Given the description of an element on the screen output the (x, y) to click on. 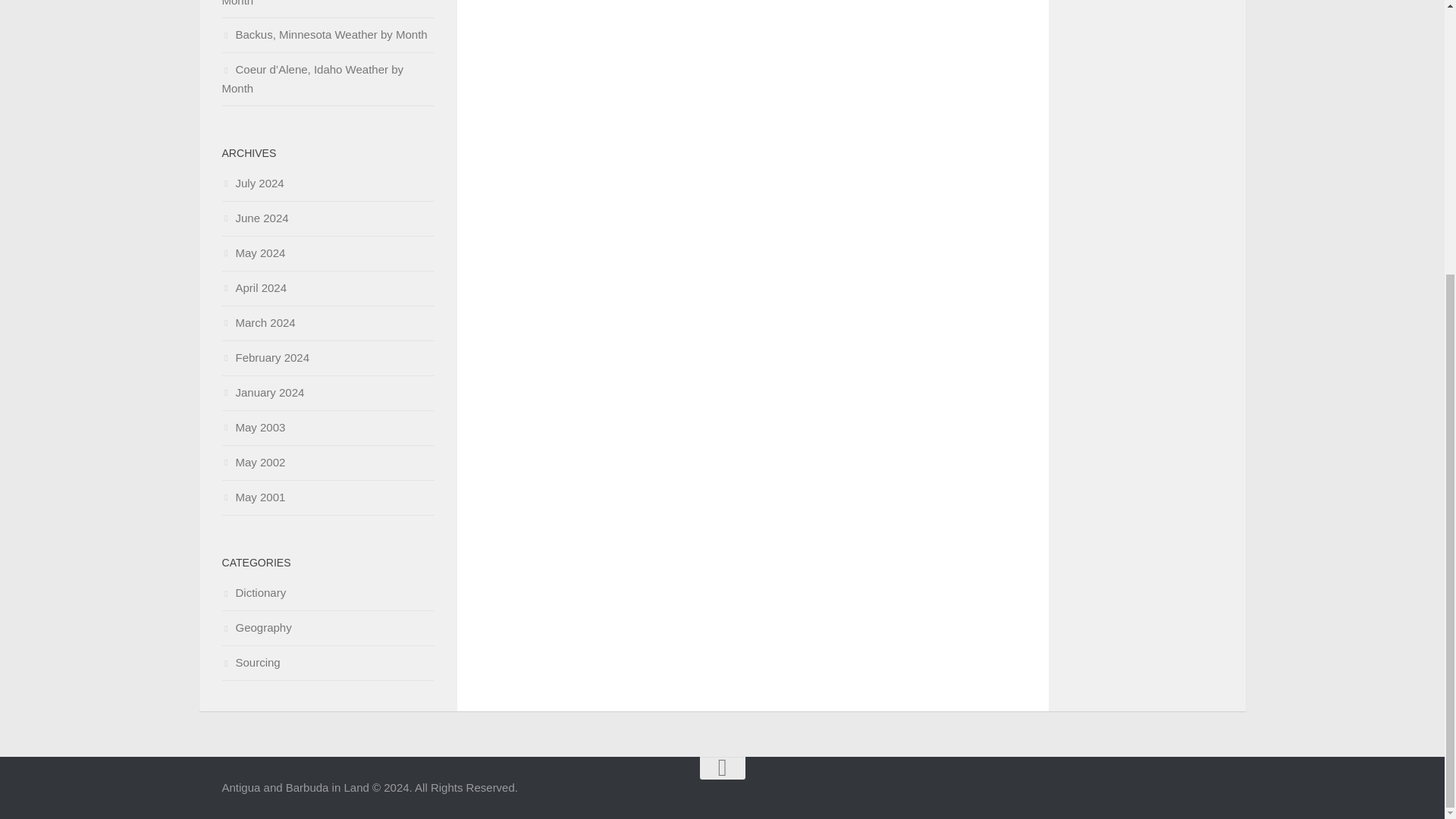
Backus, Minnesota Weather by Month (323, 33)
July 2024 (252, 182)
March 2024 (258, 322)
January 2024 (262, 391)
June 2024 (254, 217)
Geography (256, 626)
Sourcing (250, 662)
May 2003 (253, 427)
May 2001 (253, 496)
Dictionary (253, 592)
April 2024 (253, 287)
May 2002 (253, 461)
Avondale, Pennsylvania Weather by Month (318, 3)
May 2024 (253, 252)
February 2024 (264, 357)
